Given the description of an element on the screen output the (x, y) to click on. 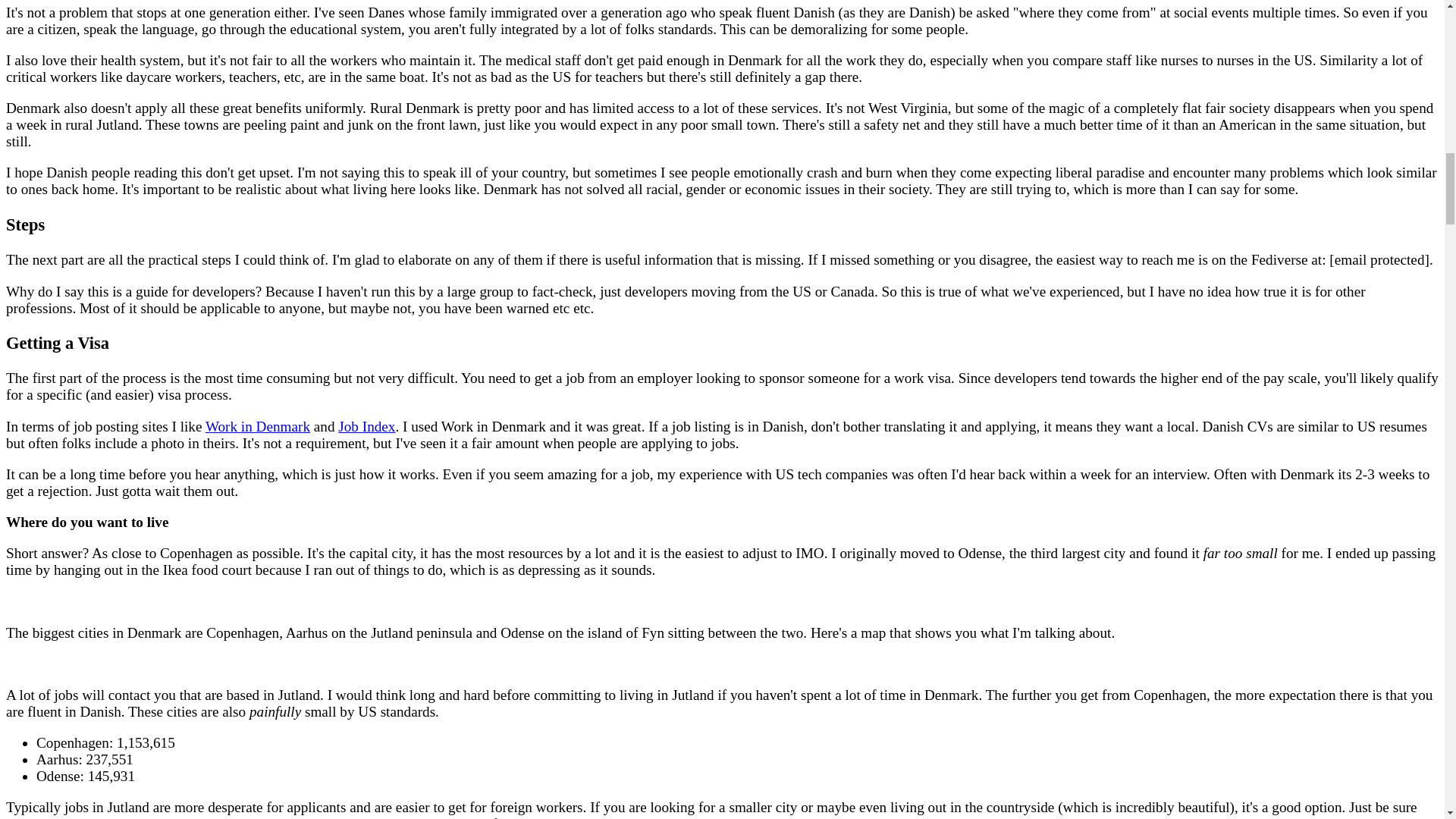
Job Index (365, 426)
Work in Denmark (257, 426)
